Given the description of an element on the screen output the (x, y) to click on. 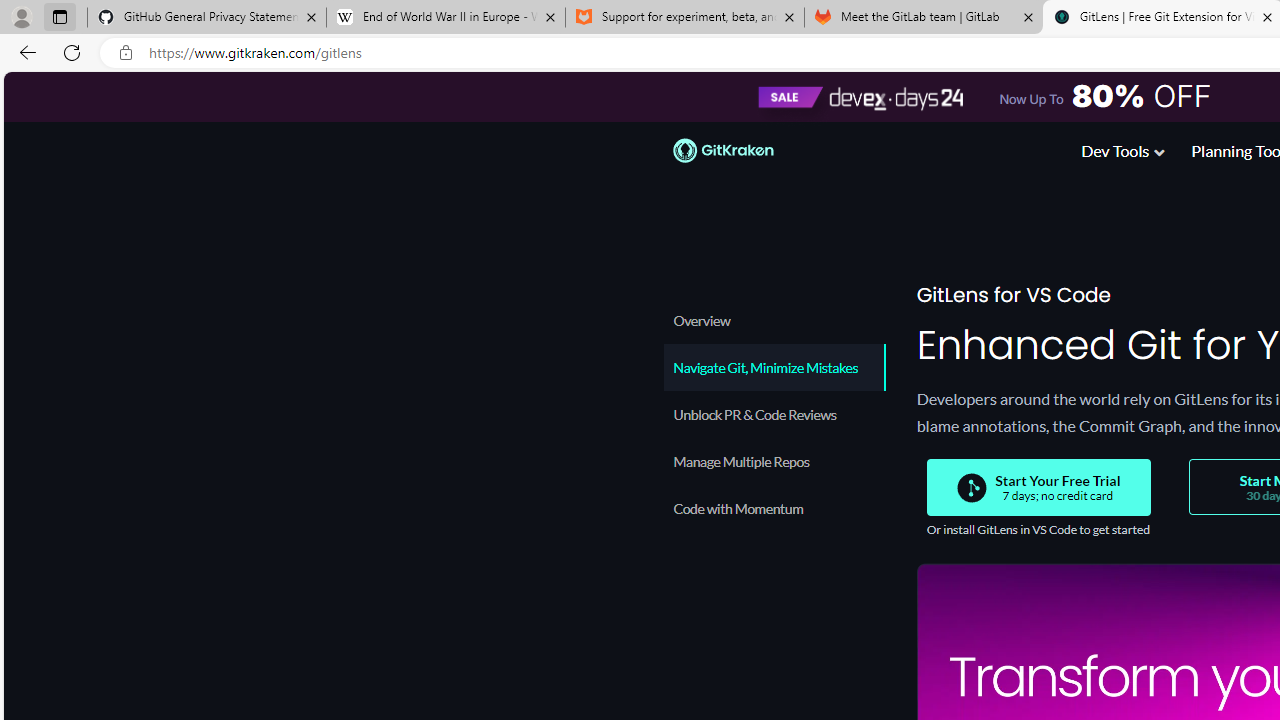
Manage Multiple Repos (774, 461)
Meet the GitLab team | GitLab (924, 17)
Start Your Free Trial 7 days; no credit card (1037, 487)
GitHub General Privacy Statement - GitHub Docs (207, 17)
Code with Momentum (774, 508)
Navigate Git, Minimize Mistakes (773, 367)
